Given the description of an element on the screen output the (x, y) to click on. 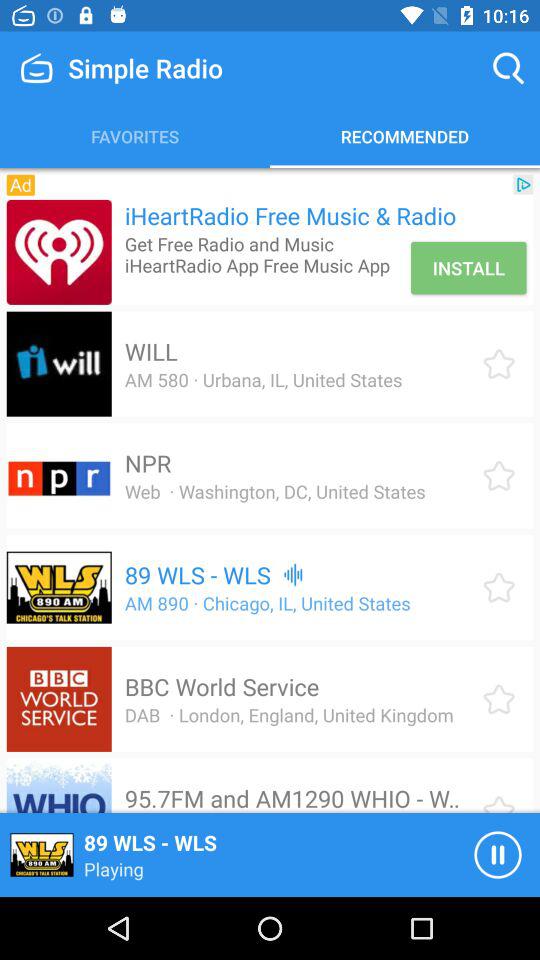
toggle an advertisements (58, 251)
